Given the description of an element on the screen output the (x, y) to click on. 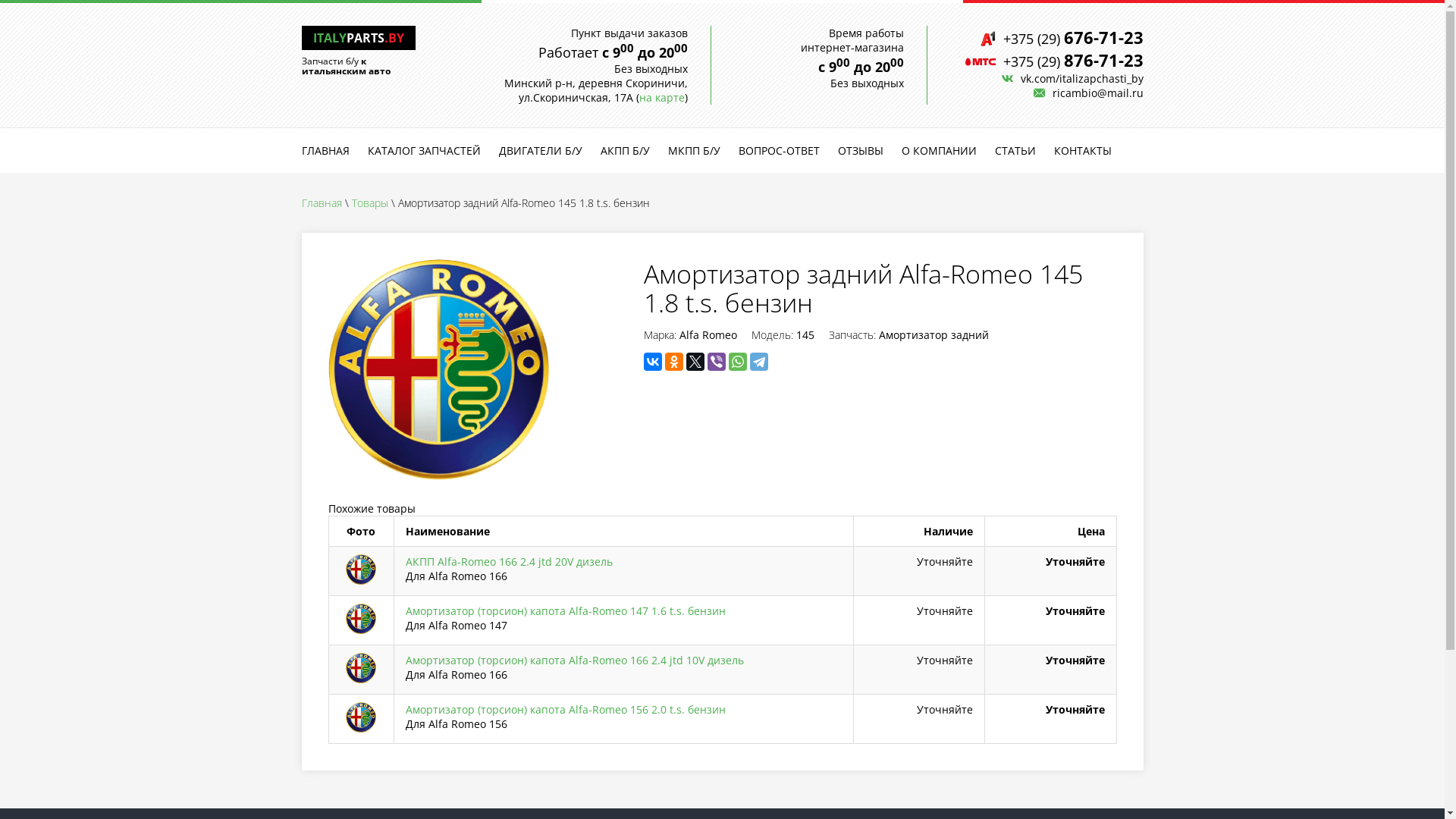
Twitter Element type: hover (694, 361)
vk.com/italizapchasti_by Element type: text (1071, 78)
ricambio@mail.ru Element type: text (1087, 92)
Telegram Element type: hover (758, 361)
WhatsApp Element type: hover (737, 361)
ITALYPARTS.BY Element type: text (357, 37)
+375 (29) 876-71-23 Element type: text (1053, 61)
+375 (29) 676-71-23 Element type: text (1060, 38)
Viber Element type: hover (715, 361)
alfa-romeo Element type: hover (437, 369)
